Given the description of an element on the screen output the (x, y) to click on. 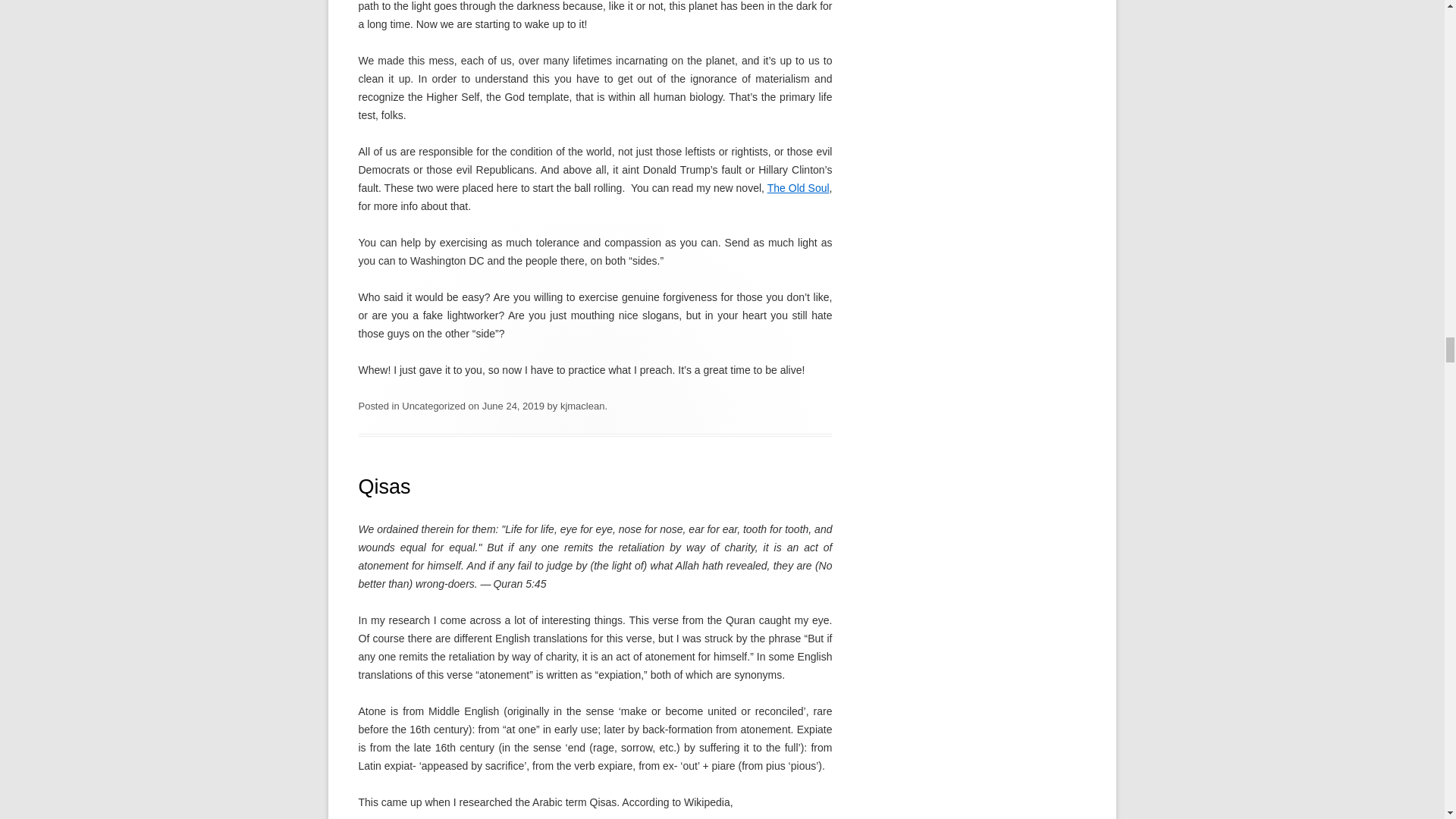
Qisas (384, 486)
1:51 pm (512, 405)
kjmaclean (582, 405)
Uncategorized (433, 405)
June 24, 2019 (512, 405)
The Old Soul (798, 187)
